Given the description of an element on the screen output the (x, y) to click on. 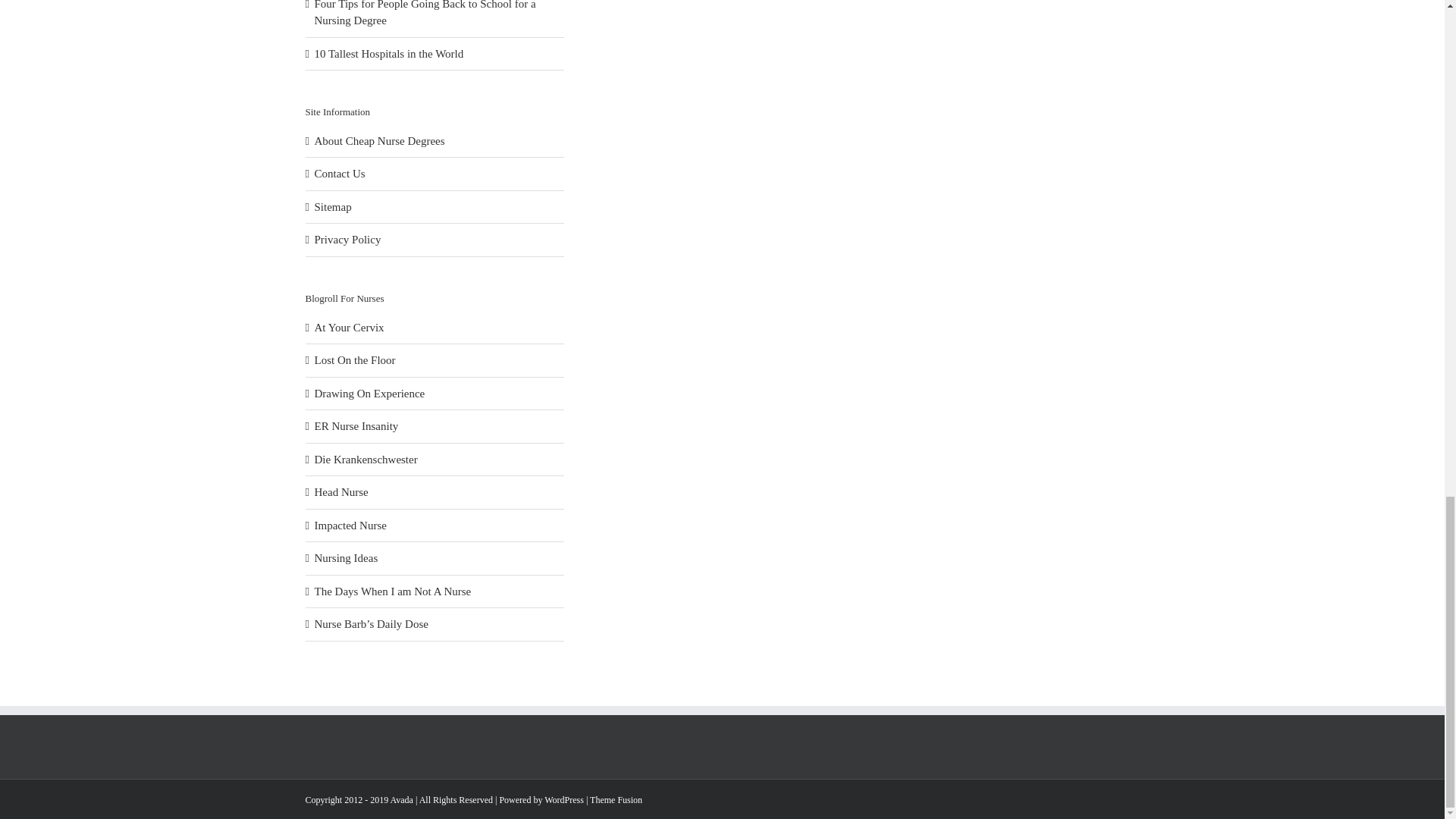
ER Nurse Insanity (355, 426)
Drawing On Experience (369, 393)
At Your Cervix (349, 327)
Contact Us (339, 173)
Head Nurse (341, 491)
10 Tallest Hospitals in the World (388, 53)
Die Krankenschwester (365, 459)
Privacy Policy (347, 239)
Lost On the Floor (354, 359)
Impacted Nurse (349, 525)
